Given the description of an element on the screen output the (x, y) to click on. 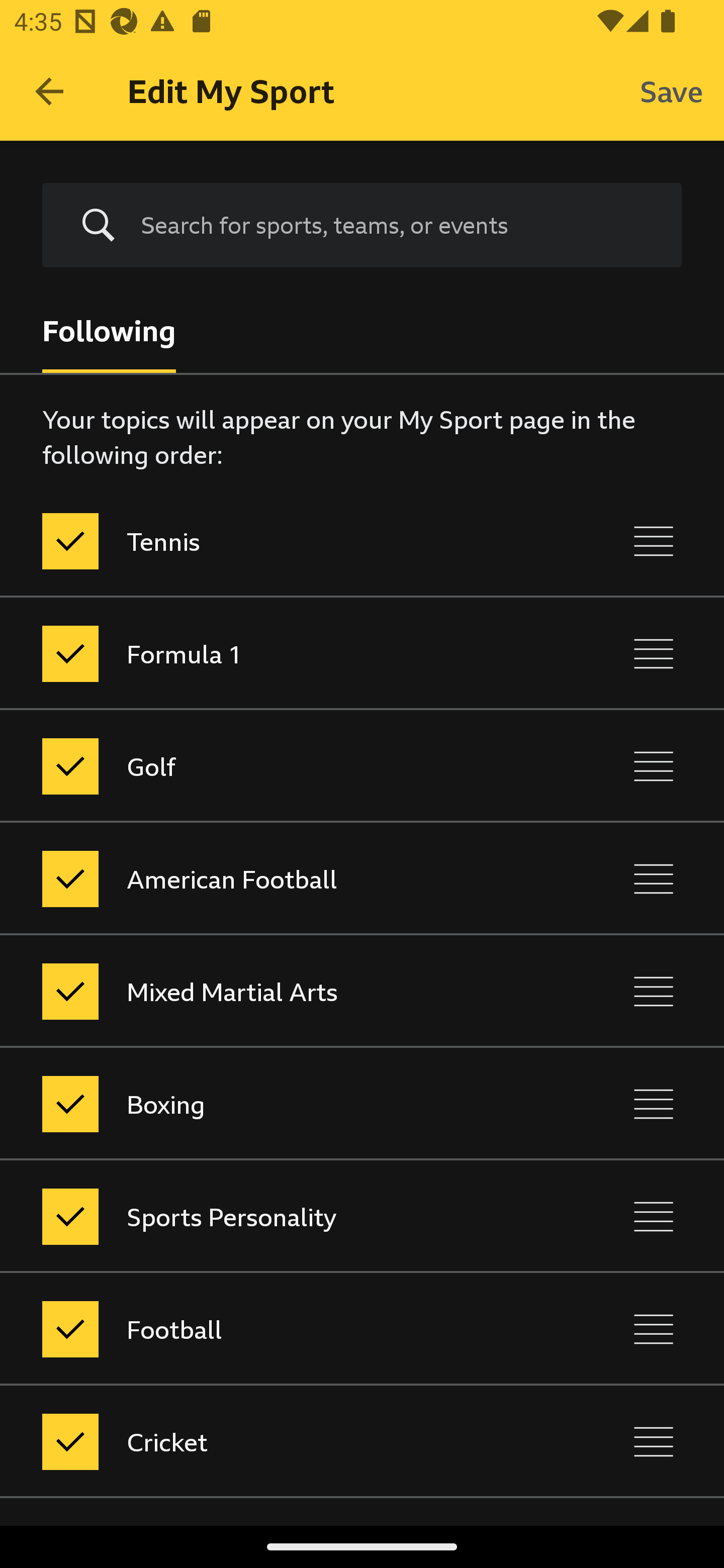
Navigate up (49, 91)
Save (671, 90)
Search for sports, teams, or events (361, 225)
Search for sports, teams, or events (396, 224)
Tennis (277, 540)
Reorder Tennis (653, 540)
Formula 1 (277, 653)
Reorder Formula 1 (653, 653)
Golf (277, 766)
Reorder Golf (653, 766)
American Football (277, 878)
Reorder American Football (653, 878)
Mixed Martial Arts (277, 990)
Reorder Mixed Martial Arts (653, 990)
Boxing (277, 1103)
Reorder Boxing (653, 1103)
Sports Personality (277, 1216)
Reorder Sports Personality (653, 1216)
Football (277, 1329)
Reorder Football (653, 1329)
Cricket (277, 1441)
Reorder Cricket (653, 1441)
